Given the description of an element on the screen output the (x, y) to click on. 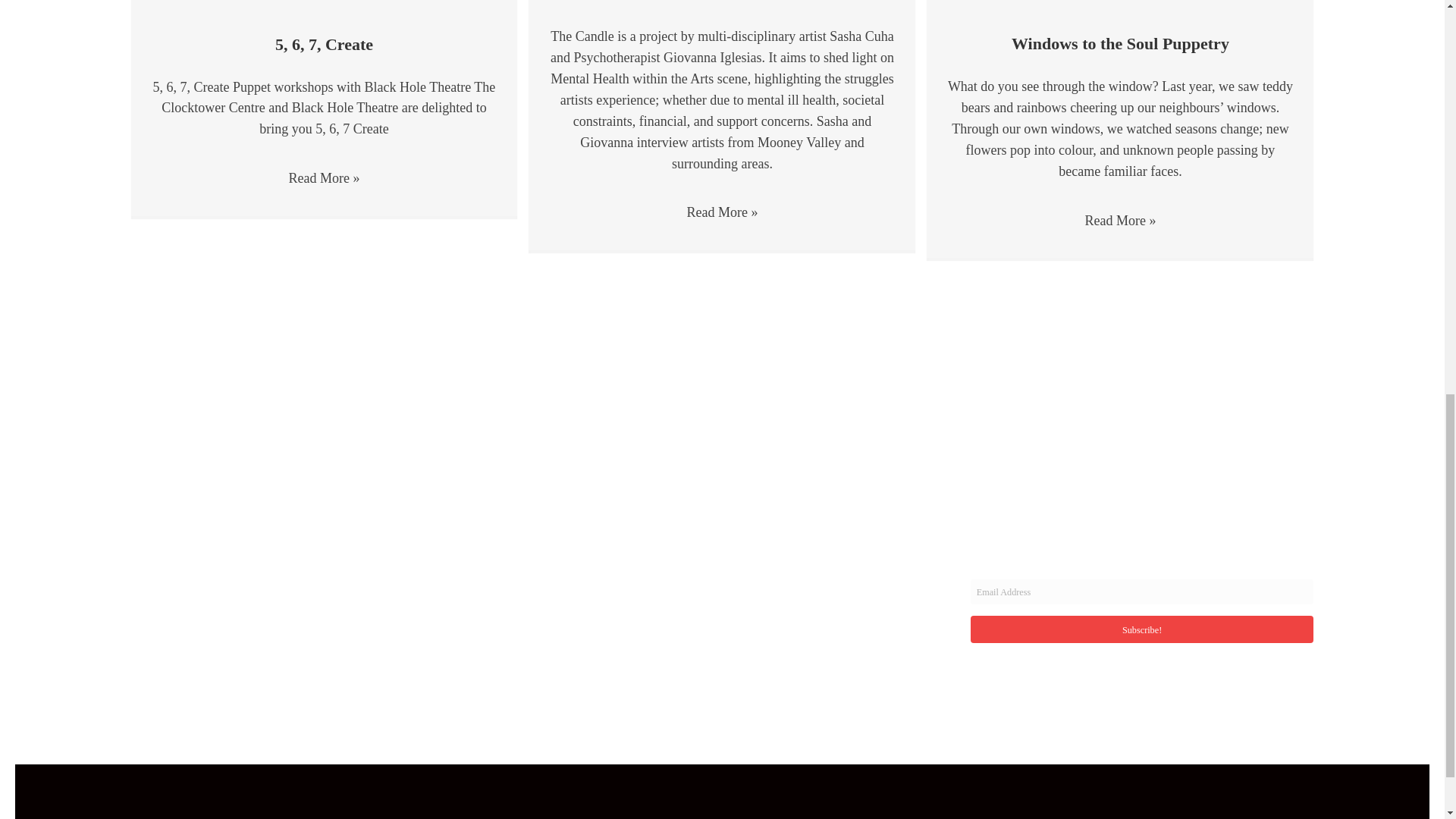
5, 6, 7, Create (323, 44)
The Candle Podcast (721, 1)
Windows to the Soul Puppetry (1119, 43)
